Given the description of an element on the screen output the (x, y) to click on. 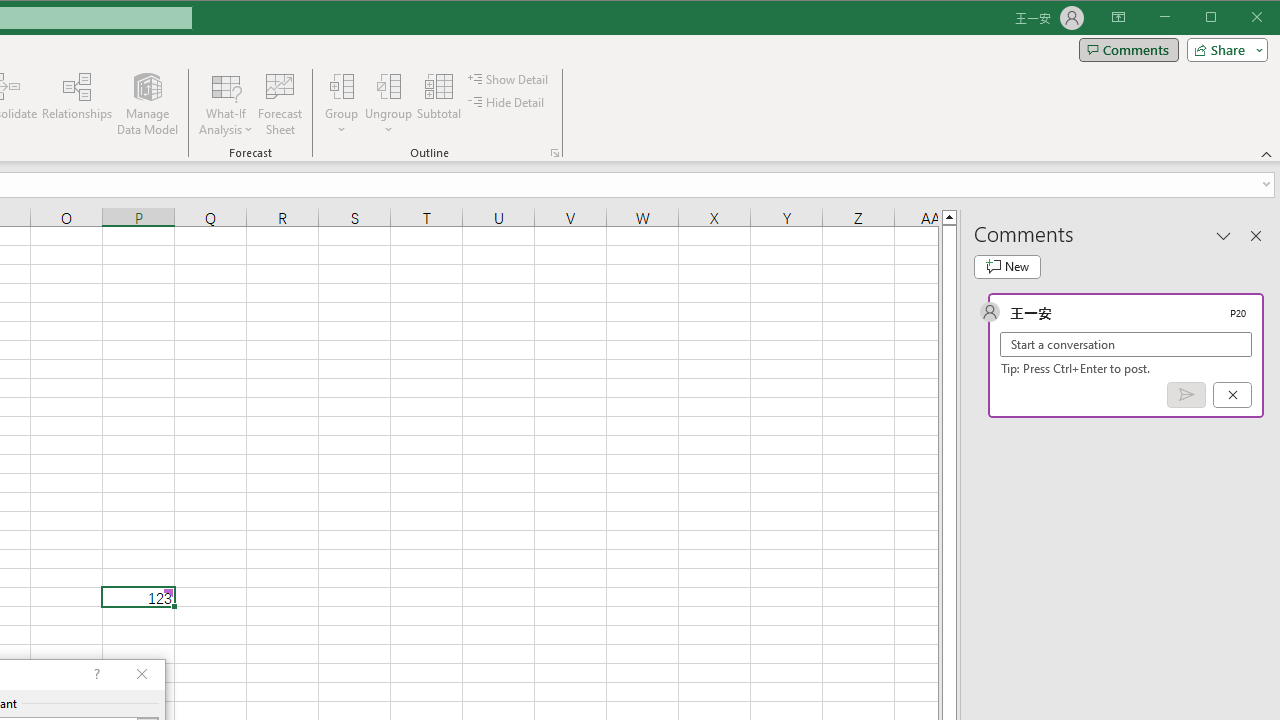
New comment (1007, 266)
Task Pane Options (1224, 235)
Start a conversation (1126, 344)
Show Detail (509, 78)
What-If Analysis (226, 104)
Close pane (1256, 235)
Group... (342, 104)
